Given the description of an element on the screen output the (x, y) to click on. 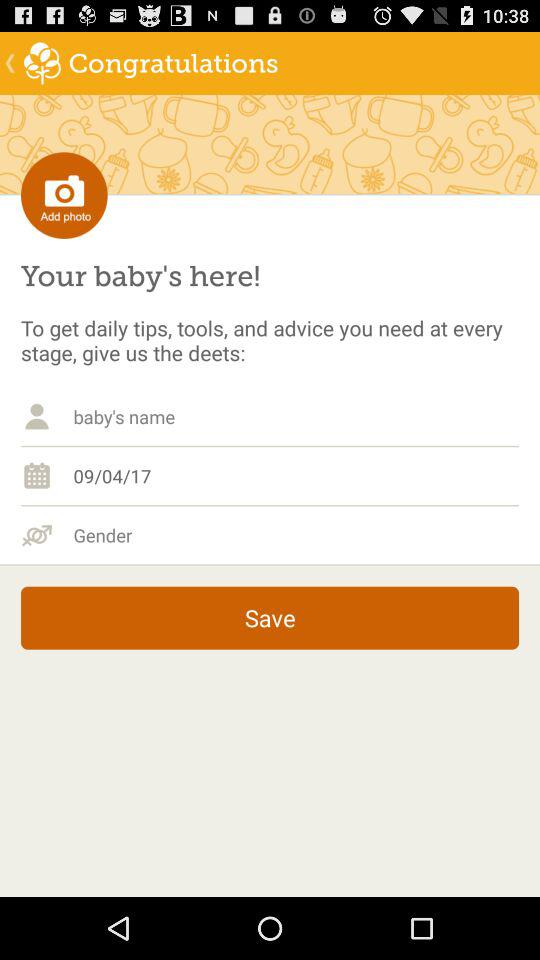
turn on 09/04/17 app (296, 475)
